Given the description of an element on the screen output the (x, y) to click on. 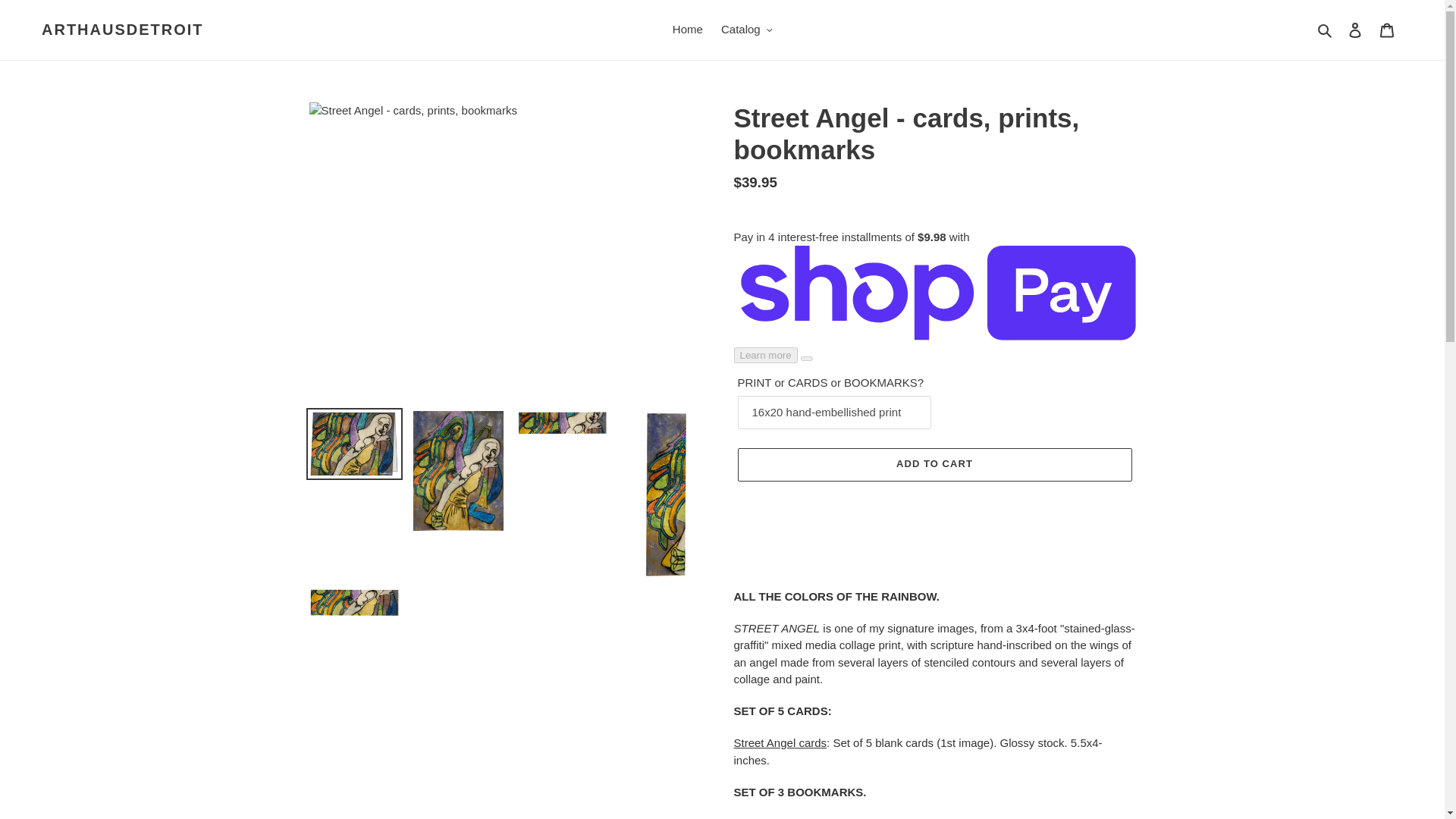
Log in (1355, 29)
ADD TO CART (933, 464)
Search (1326, 29)
Home (687, 29)
Cart (1387, 29)
Catalog (745, 29)
ARTHAUSDETROIT (122, 29)
